Given the description of an element on the screen output the (x, y) to click on. 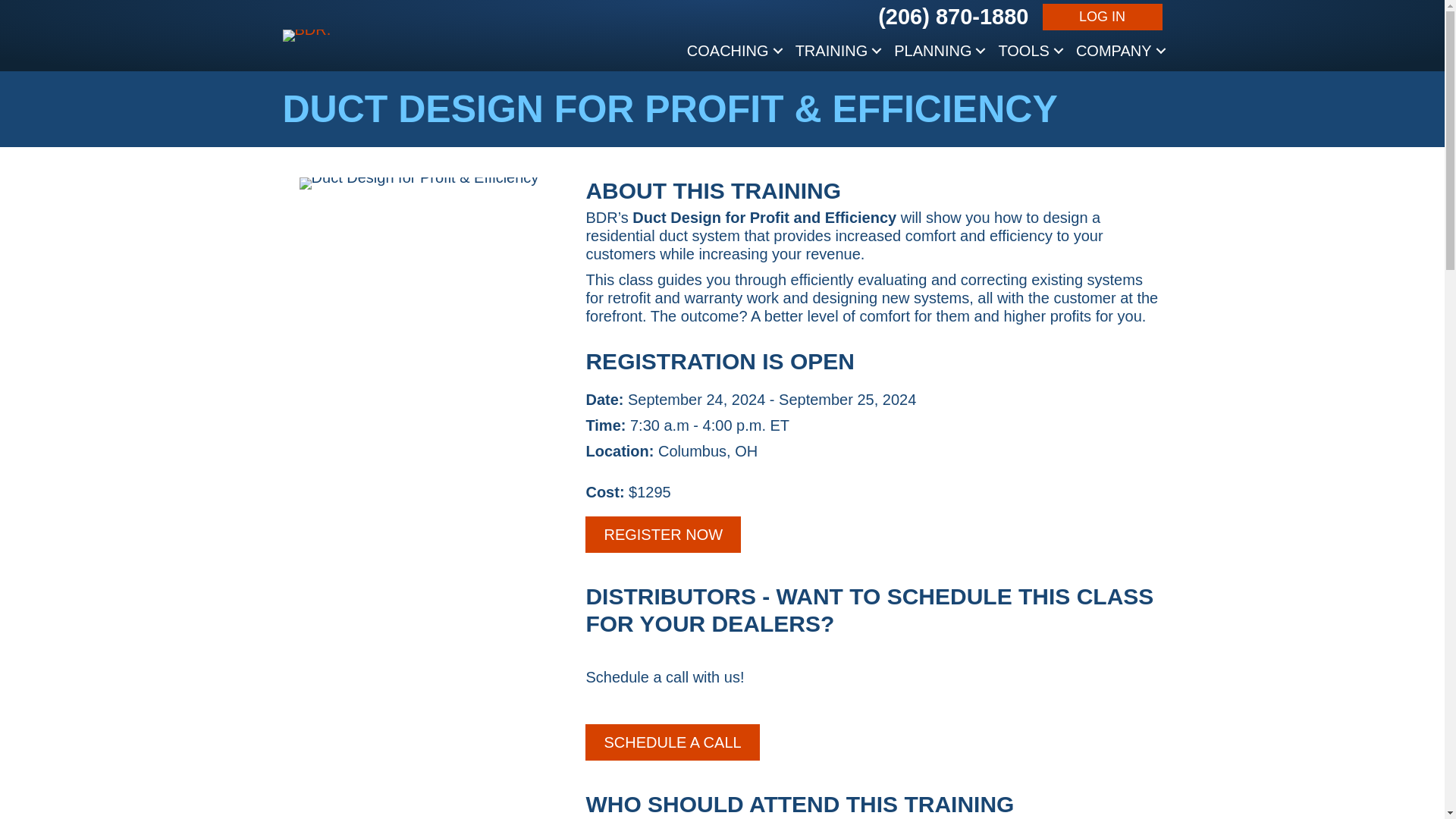
TRAINING (836, 50)
TOOLS (1028, 50)
Duct Design (418, 183)
LOG IN (1102, 16)
PLANNING (938, 50)
COACHING (733, 50)
BDR. (306, 35)
